Given the description of an element on the screen output the (x, y) to click on. 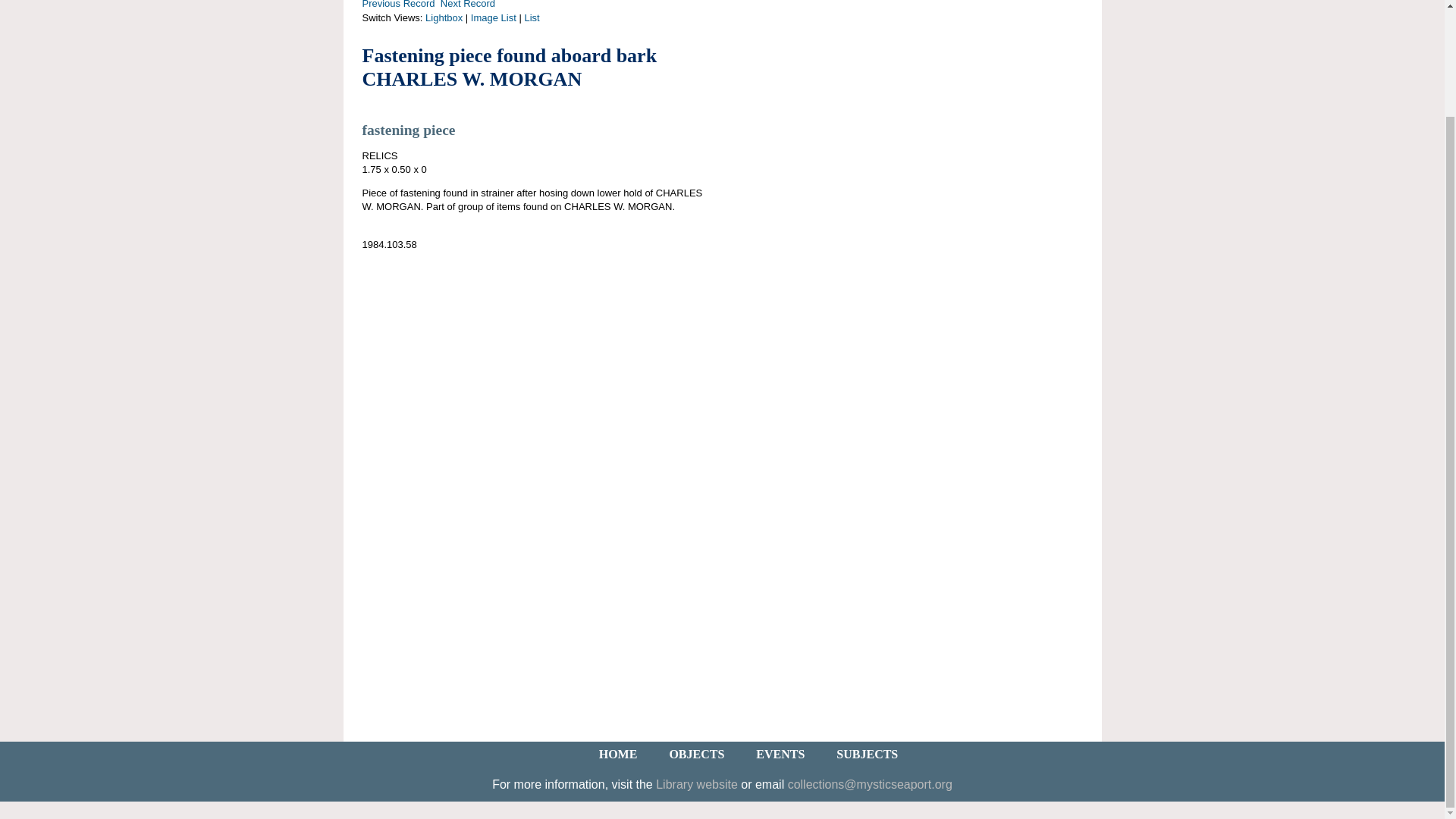
Image List (493, 17)
EVENTS (780, 753)
Next Record (468, 4)
Previous Record (398, 4)
Lightbox (444, 17)
HOME (618, 753)
List (531, 17)
SUBJECTS (866, 753)
OBJECTS (696, 753)
Library website (697, 784)
